Given the description of an element on the screen output the (x, y) to click on. 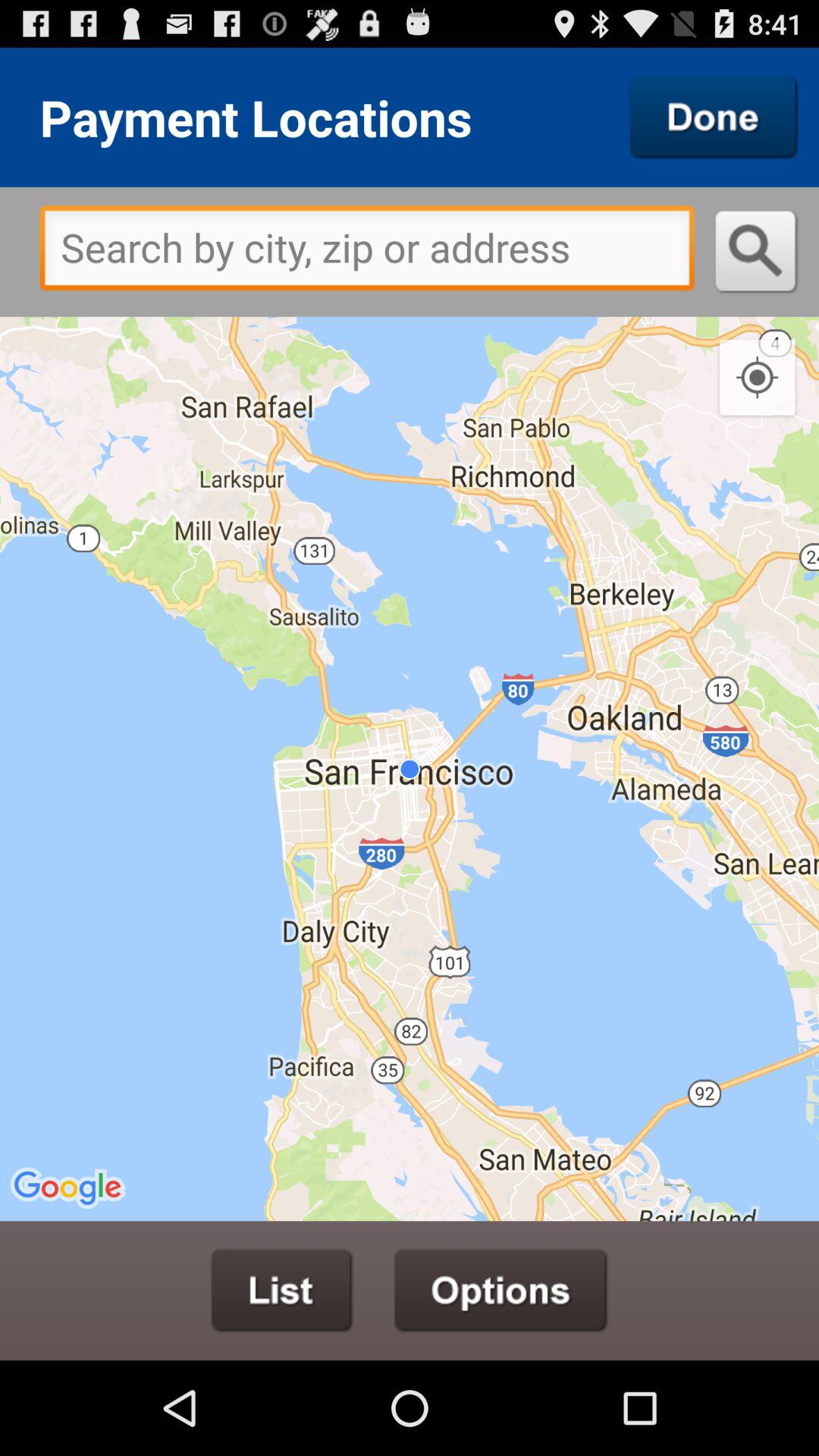
search city zip address (366, 251)
